Given the description of an element on the screen output the (x, y) to click on. 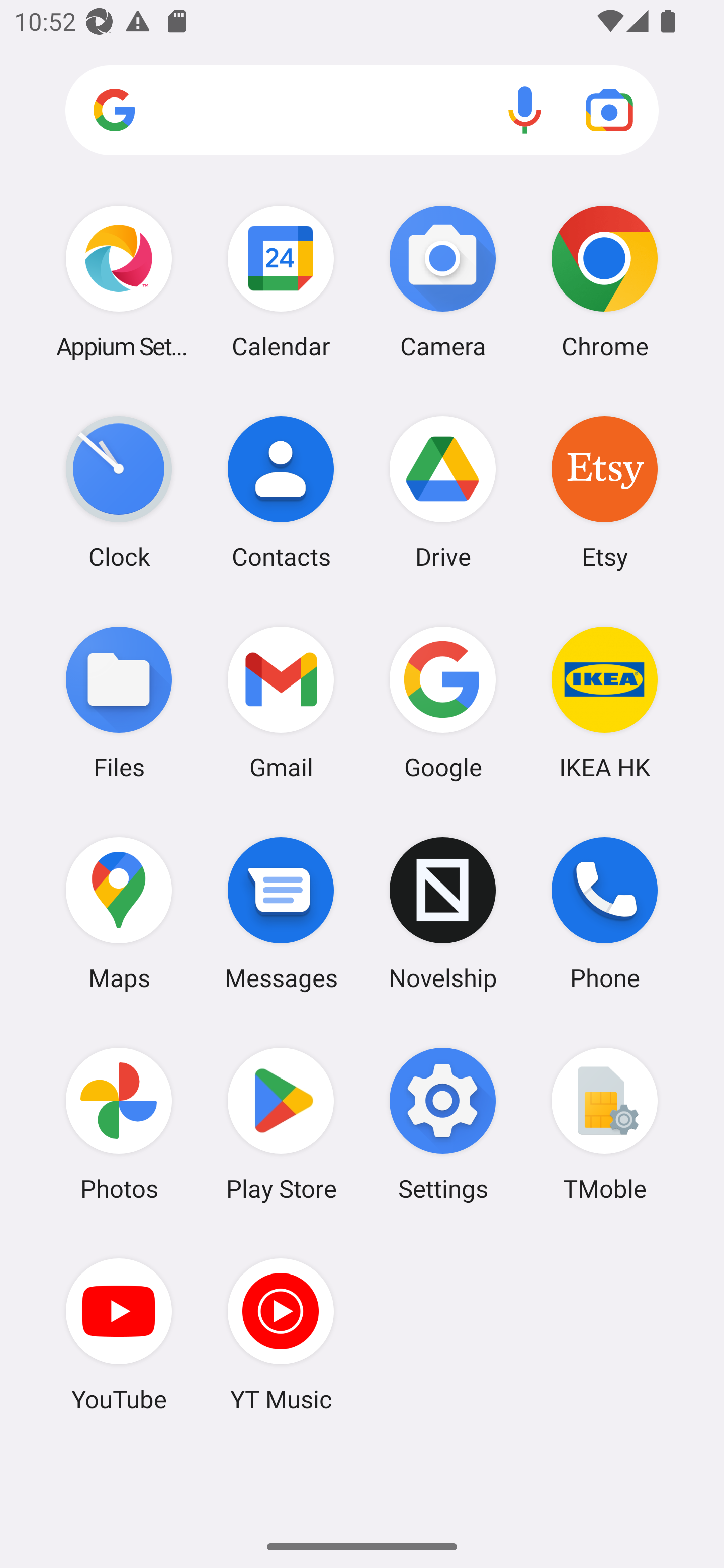
Search apps, web and more (361, 110)
Voice search (524, 109)
Google Lens (608, 109)
Appium Settings (118, 281)
Calendar (280, 281)
Camera (443, 281)
Chrome (604, 281)
Clock (118, 492)
Contacts (280, 492)
Drive (443, 492)
Etsy (604, 492)
Files (118, 702)
Gmail (280, 702)
Google (443, 702)
IKEA HK (604, 702)
Maps (118, 913)
Messages (280, 913)
Novelship (443, 913)
Phone (604, 913)
Photos (118, 1124)
Play Store (280, 1124)
Settings (443, 1124)
TMoble (604, 1124)
YouTube (118, 1334)
YT Music (280, 1334)
